Given the description of an element on the screen output the (x, y) to click on. 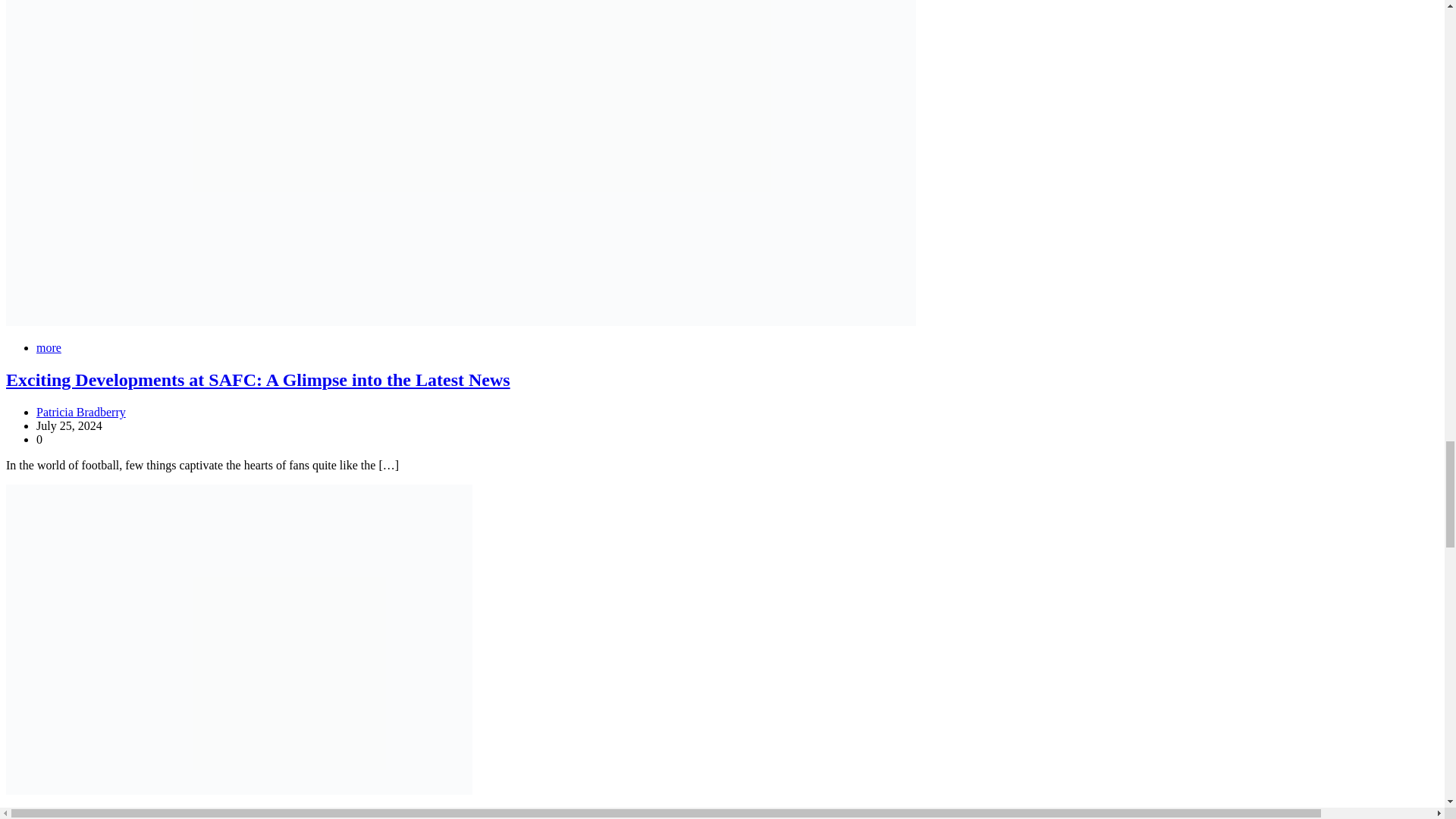
Patricia Bradberry (80, 411)
more (48, 347)
more (48, 814)
